Given the description of an element on the screen output the (x, y) to click on. 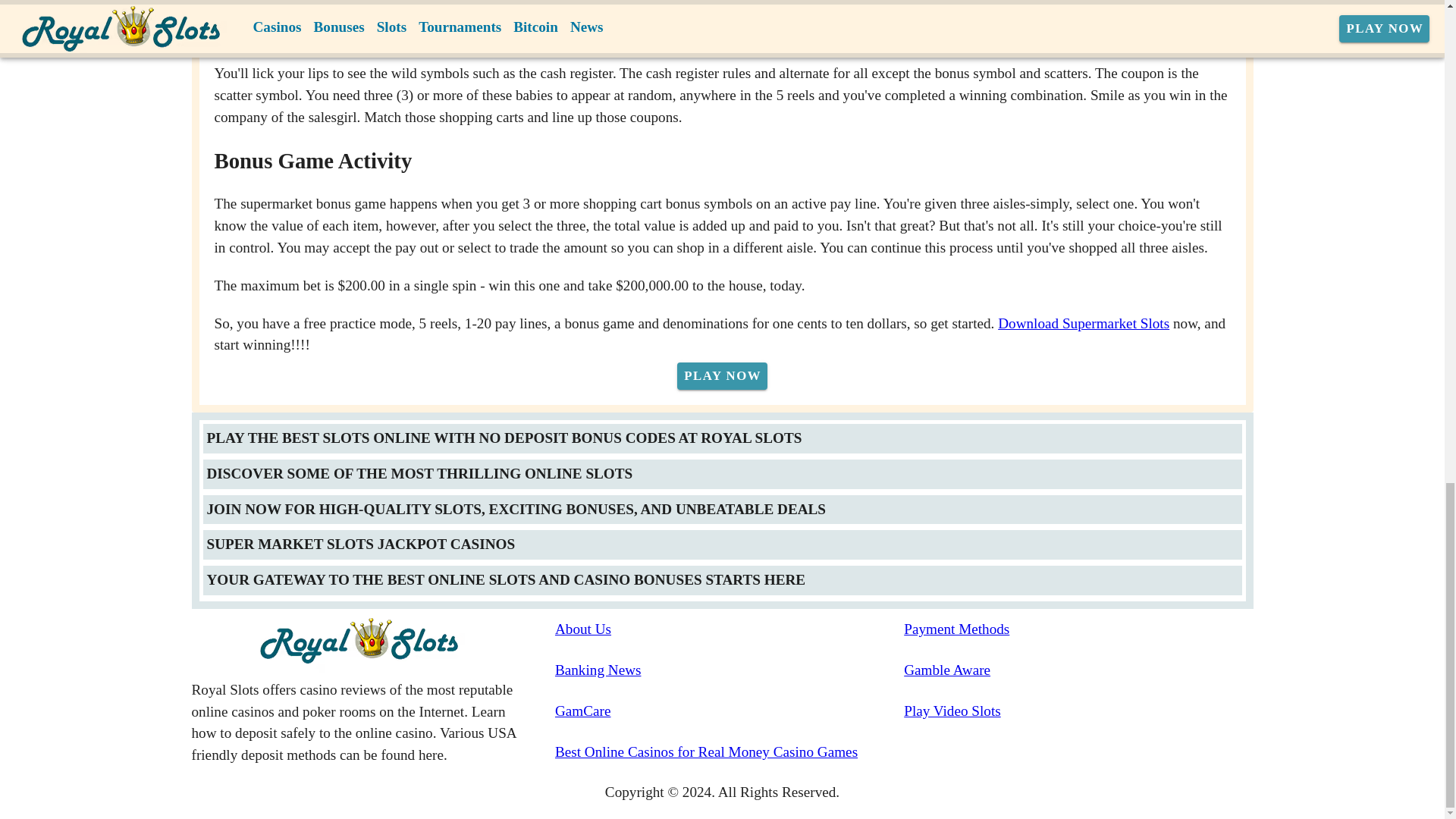
PLAY NOW (722, 375)
Banking News (729, 670)
Download Supermarket Slots (1083, 323)
GamCare (729, 711)
About Us (729, 629)
Gamble Aware (1078, 670)
Play Video Slots (1078, 711)
Best Online Casinos for Real Money Casino Games (729, 752)
Payment Methods (1078, 629)
